Given the description of an element on the screen output the (x, y) to click on. 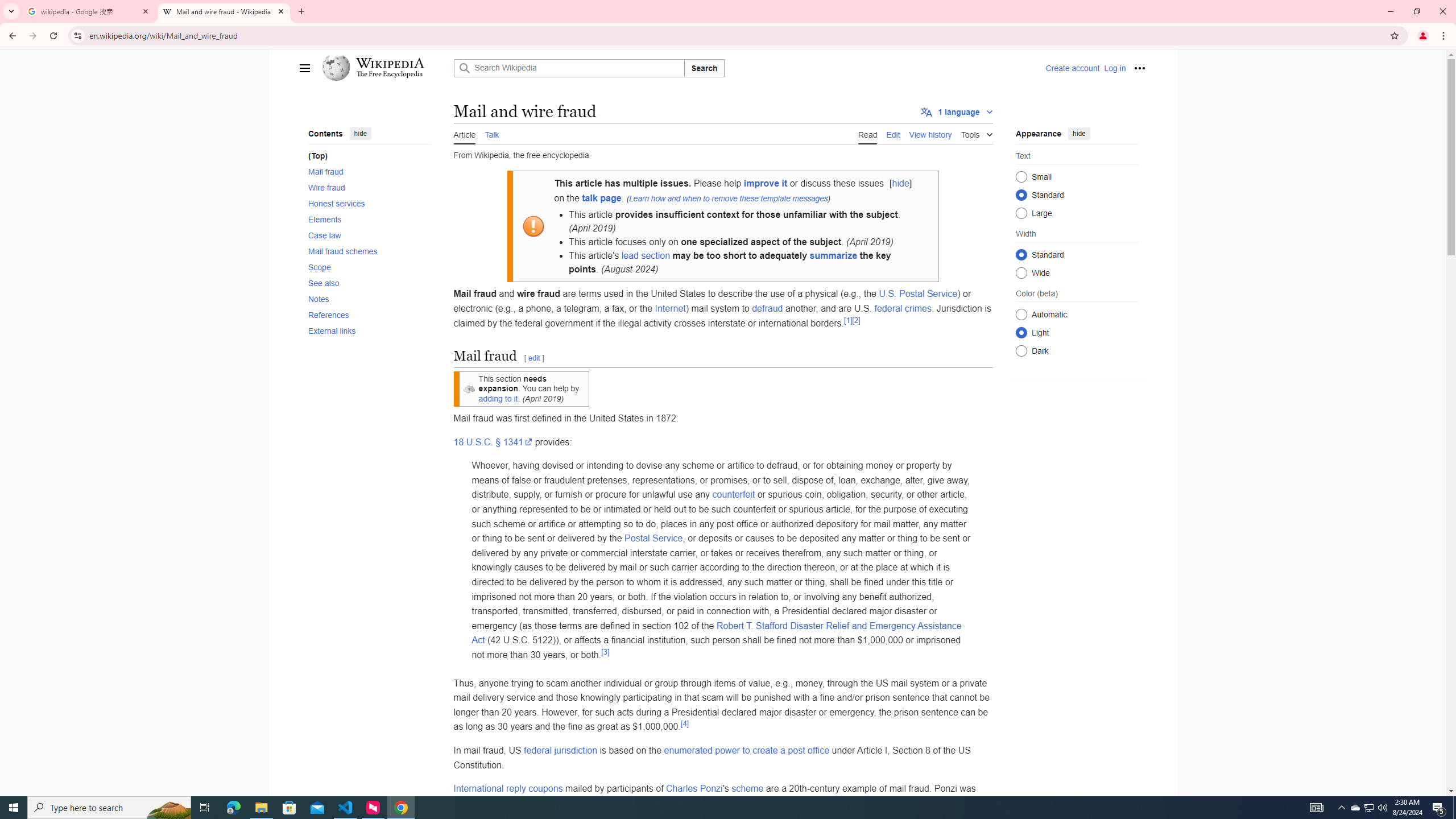
Dark (1020, 350)
Mail fraud (368, 170)
AutomationID: toc-Case_law (365, 234)
Notes (368, 298)
Personal tools (1139, 67)
lead section (646, 255)
U.S. Postal Service (918, 293)
(Top) (368, 155)
Read (867, 133)
Talk (491, 133)
Wide (1020, 272)
Standard (1020, 254)
